Given the description of an element on the screen output the (x, y) to click on. 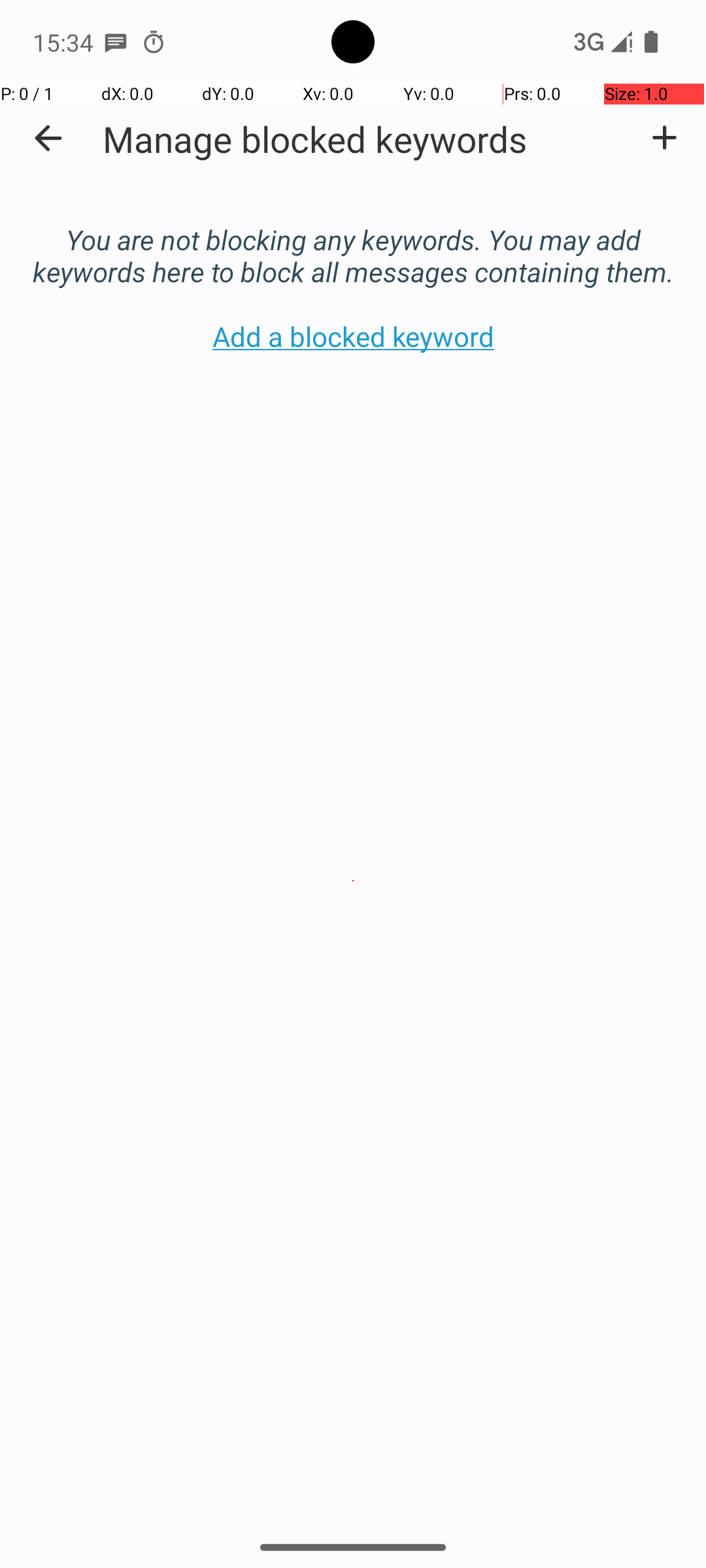
Add a blocked keyword Element type: android.widget.Button (664, 137)
You are not blocking any keywords. You may add keywords here to block all messages containing them. Element type: android.widget.TextView (353, 241)
